Given the description of an element on the screen output the (x, y) to click on. 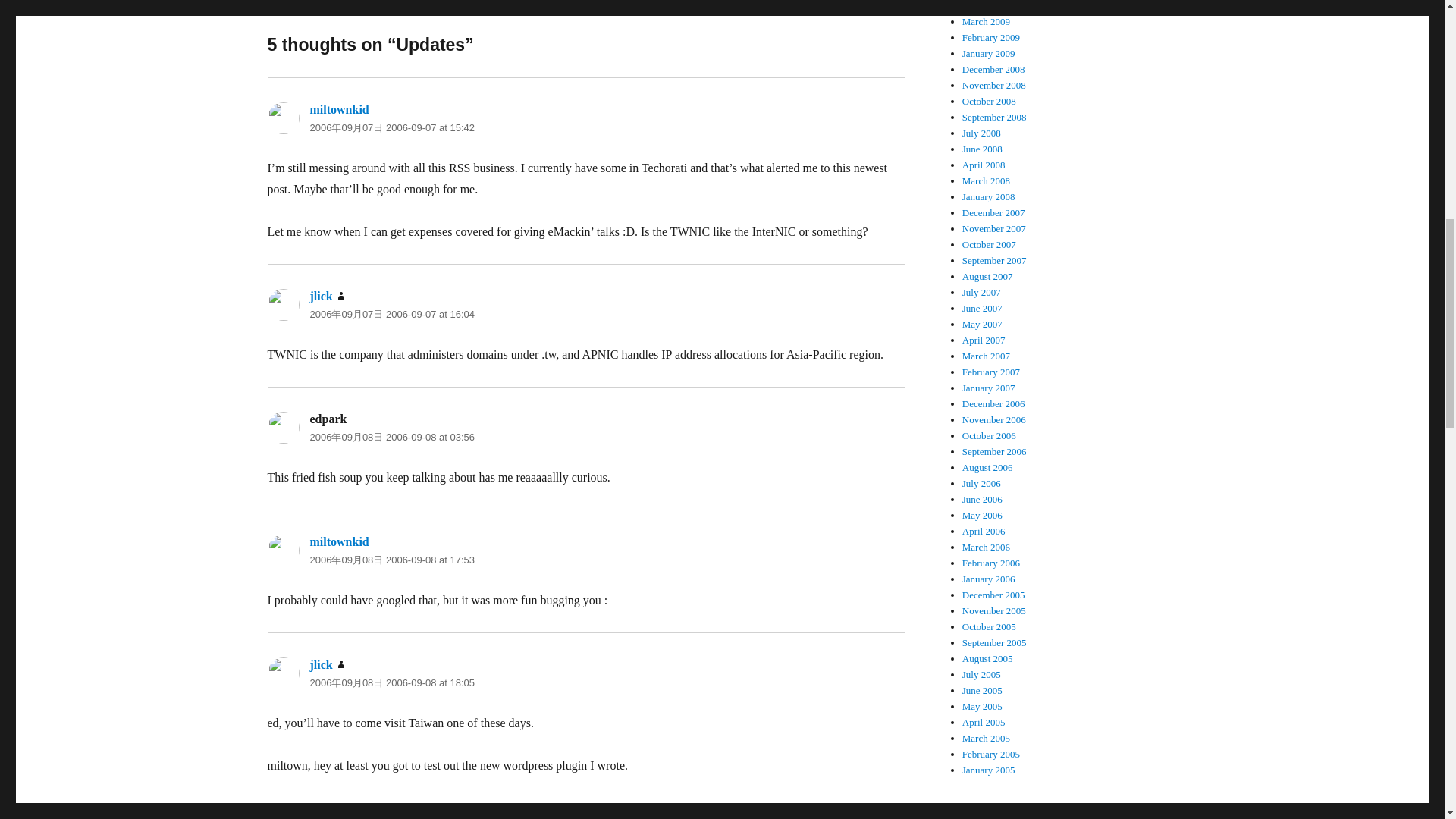
jlick (319, 664)
jlick (319, 295)
miltownkid (338, 541)
miltownkid (338, 109)
